Given the description of an element on the screen output the (x, y) to click on. 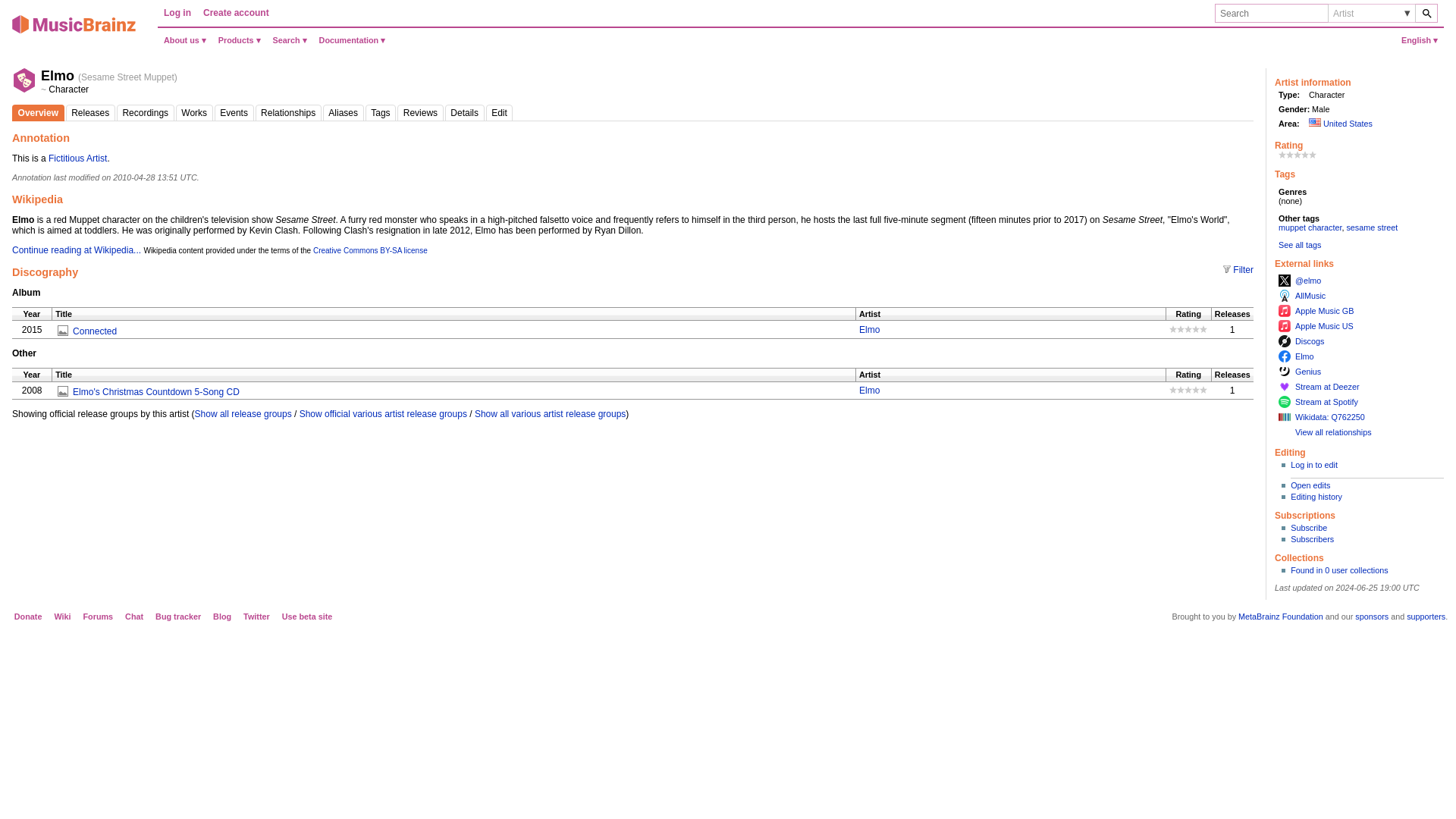
Log in (176, 13)
Create account (235, 13)
This release group has artwork in the Cover Art Archive (63, 329)
MusicBrainz (74, 31)
This release group has artwork in the Cover Art Archive (63, 390)
